Given the description of an element on the screen output the (x, y) to click on. 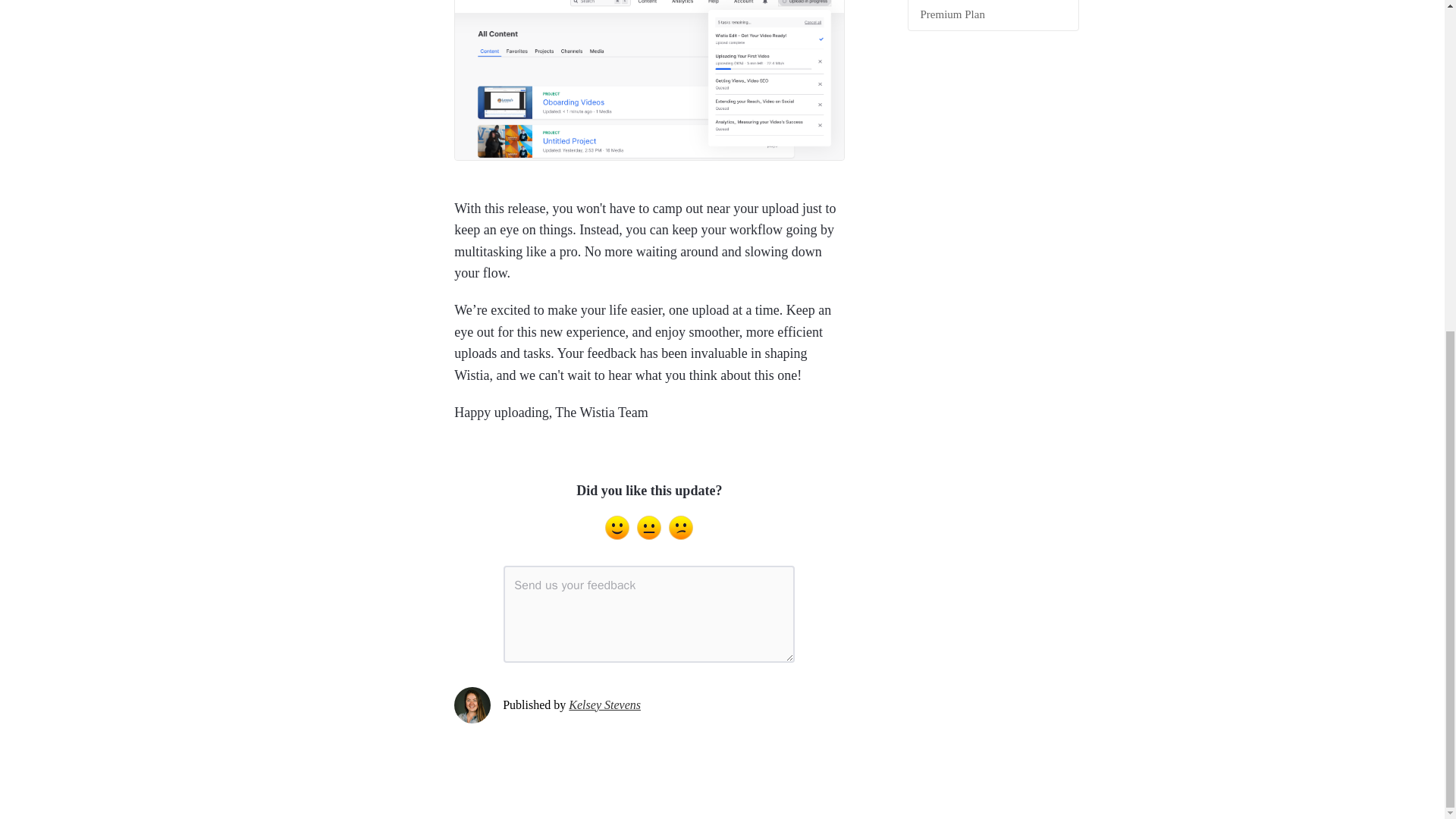
Kelsey Stevens (604, 704)
Like (616, 527)
Dislike (680, 527)
Premium Plan (993, 15)
Neutral (649, 527)
Premium Plan (993, 15)
